Given the description of an element on the screen output the (x, y) to click on. 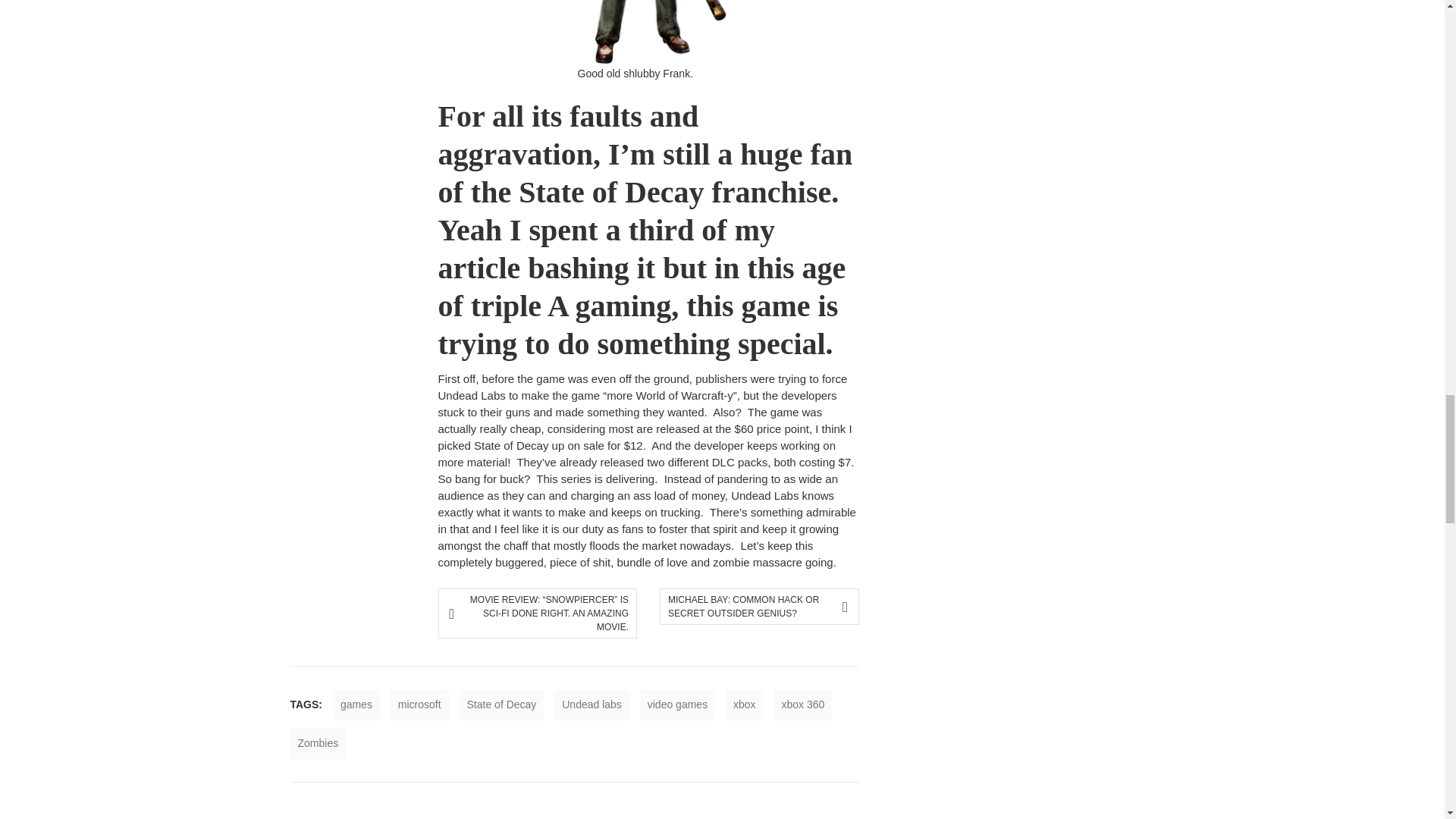
xbox (743, 704)
games (356, 704)
State of Decay (502, 704)
video games (677, 704)
MICHAEL BAY: COMMON HACK OR SECRET OUTSIDER GENIUS? (754, 605)
microsoft (419, 704)
Undead labs (591, 704)
